Given the description of an element on the screen output the (x, y) to click on. 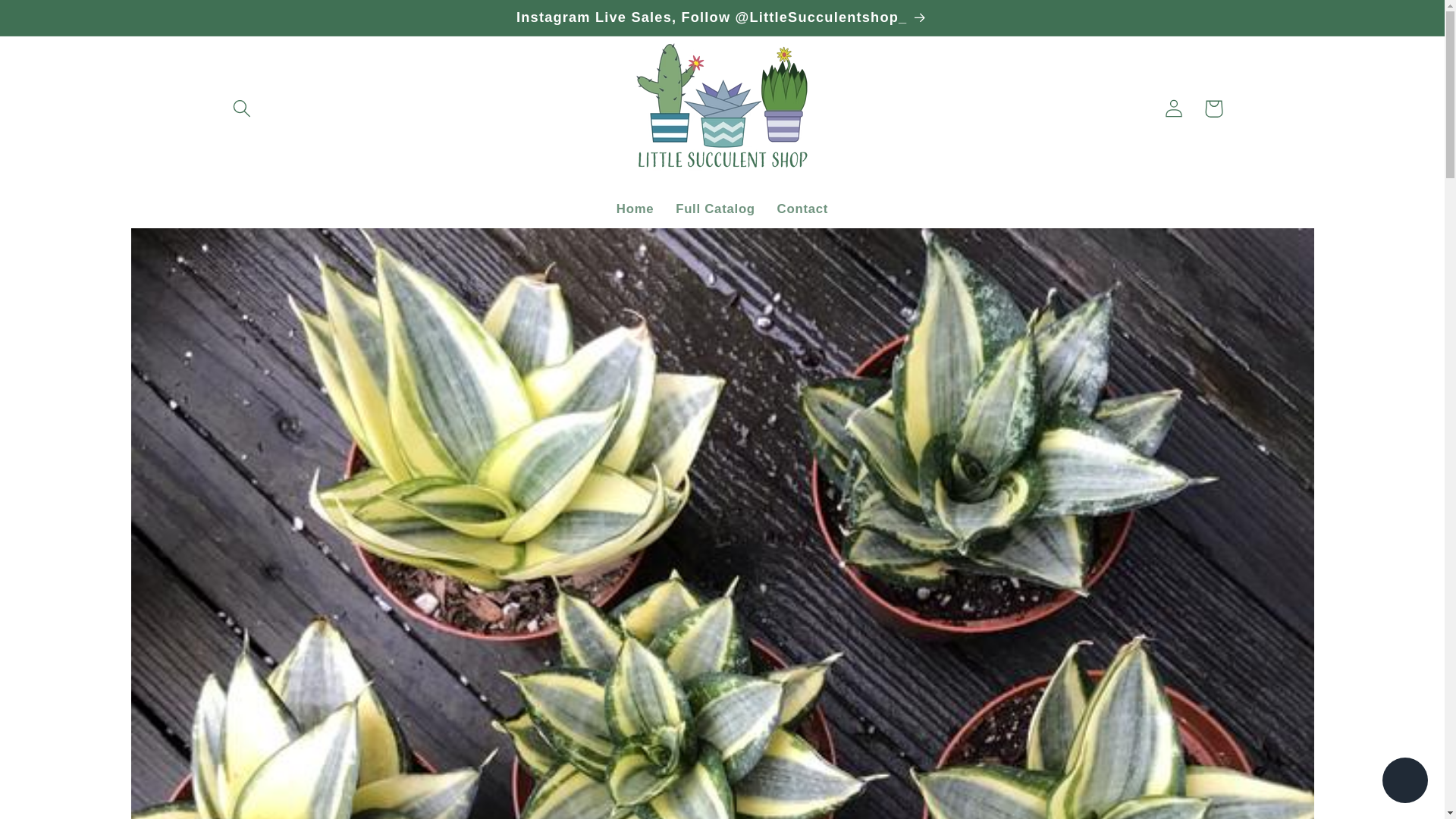
Home (634, 209)
Log in (1173, 108)
Full Catalog (715, 209)
Skip to content (55, 20)
Cart (1213, 108)
Shopify online store chat (1404, 781)
Contact (801, 209)
